Given the description of an element on the screen output the (x, y) to click on. 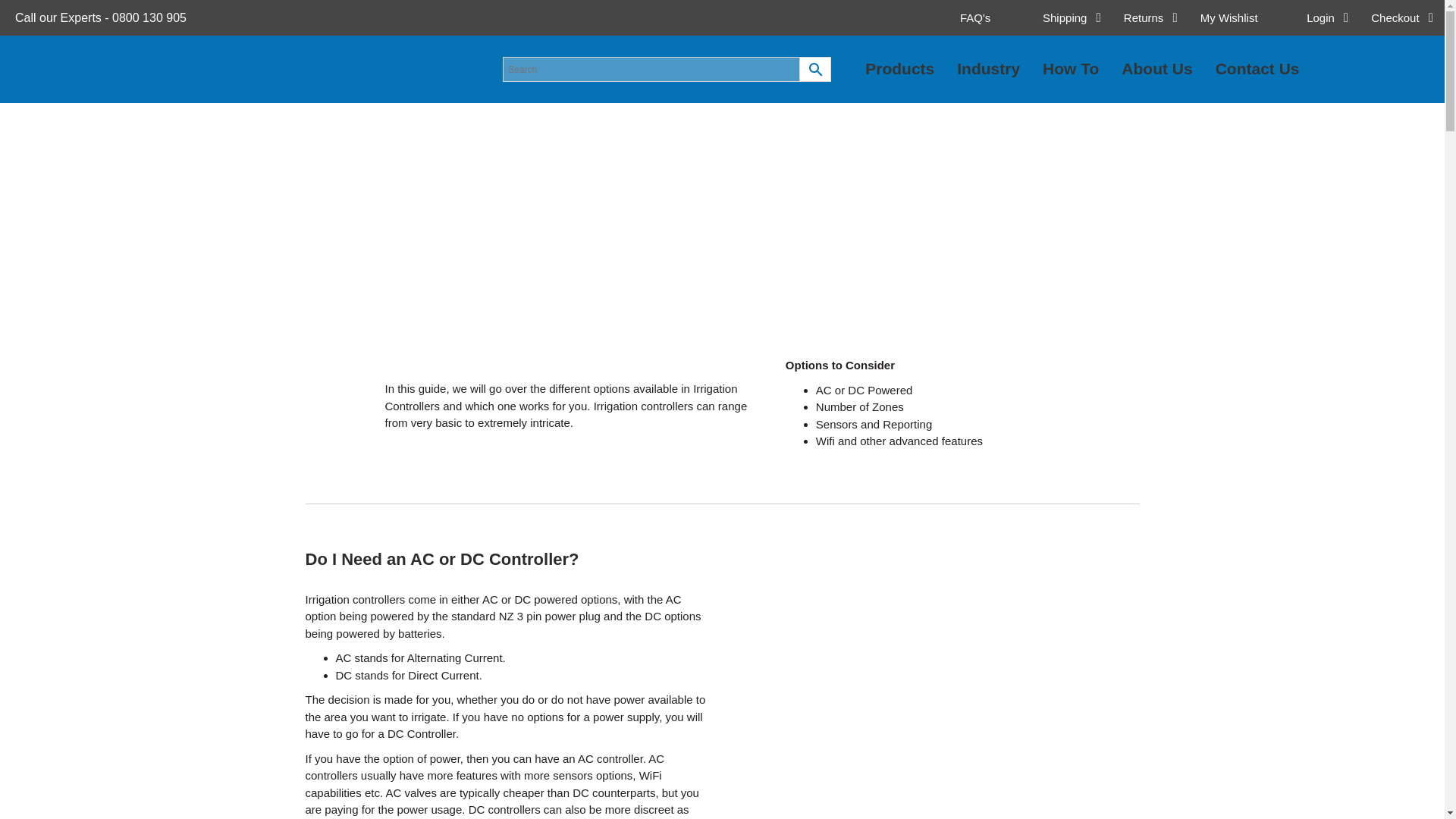
0800 130 905 (149, 17)
Shipping  (1071, 18)
Products (898, 69)
FAQ's  (1142, 69)
hunter-node (989, 18)
My Wishlist  (936, 756)
Hunter-XC-Controller (1242, 18)
Login  (936, 615)
Returns  (1327, 18)
